Given the description of an element on the screen output the (x, y) to click on. 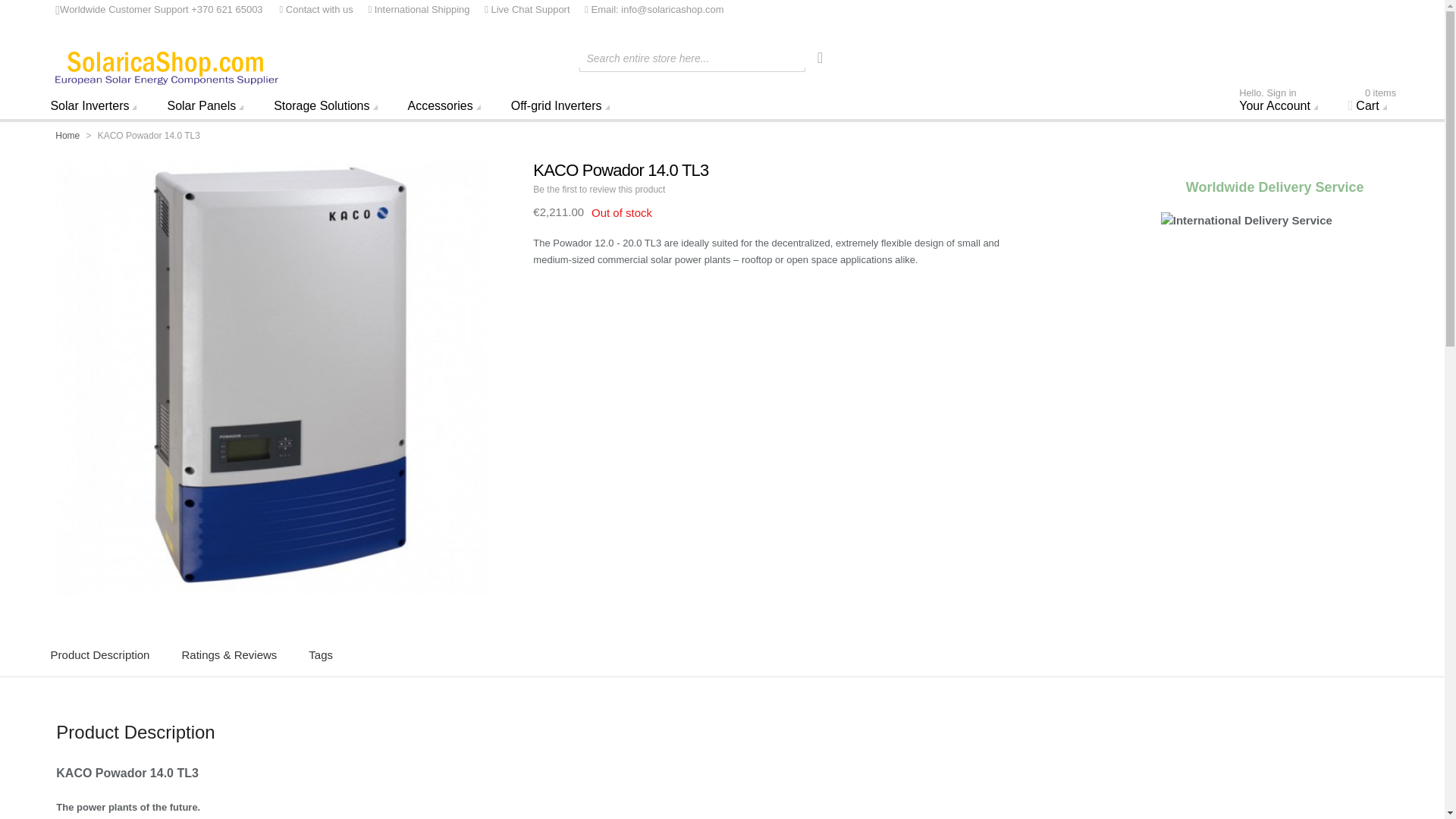
Live Chat Support (520, 9)
Contact with us (315, 9)
International Delivery Service (1274, 220)
Go to Home Page (68, 135)
Solar Inverters (97, 105)
Search (820, 58)
SolaricaShop.com - European Solar Energy Components Supplier (1281, 105)
International Shipping (166, 68)
